Given the description of an element on the screen output the (x, y) to click on. 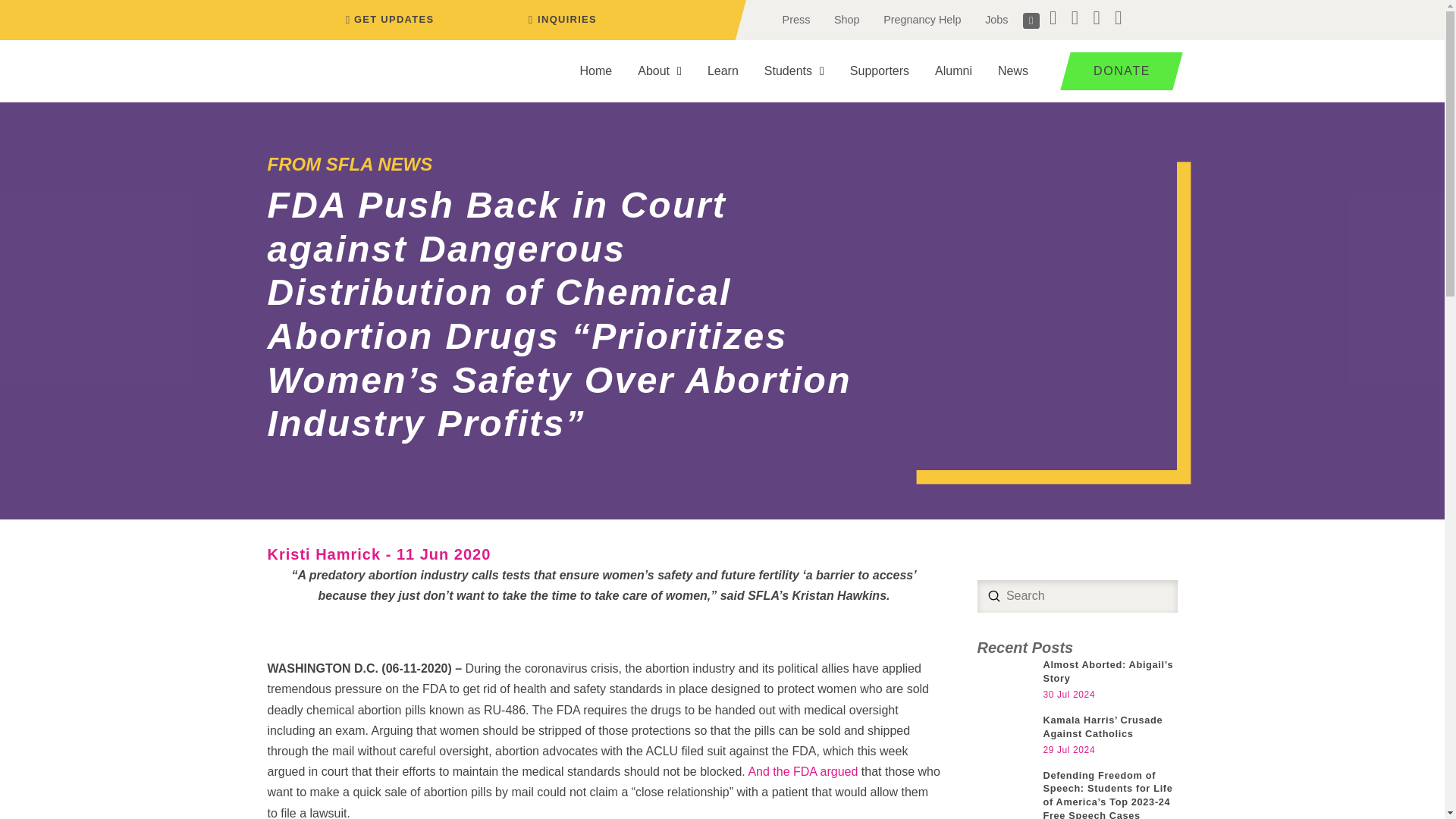
GET UPDATES (386, 20)
Jobs (996, 20)
Learn (722, 71)
Students (794, 71)
Supporters (879, 71)
About (659, 71)
Shop (846, 20)
Press (796, 20)
News (1013, 71)
And the FDA argued (804, 771)
Alumni (953, 71)
DONATE (1115, 71)
Home (596, 71)
Pregnancy Help (921, 20)
